Given the description of an element on the screen output the (x, y) to click on. 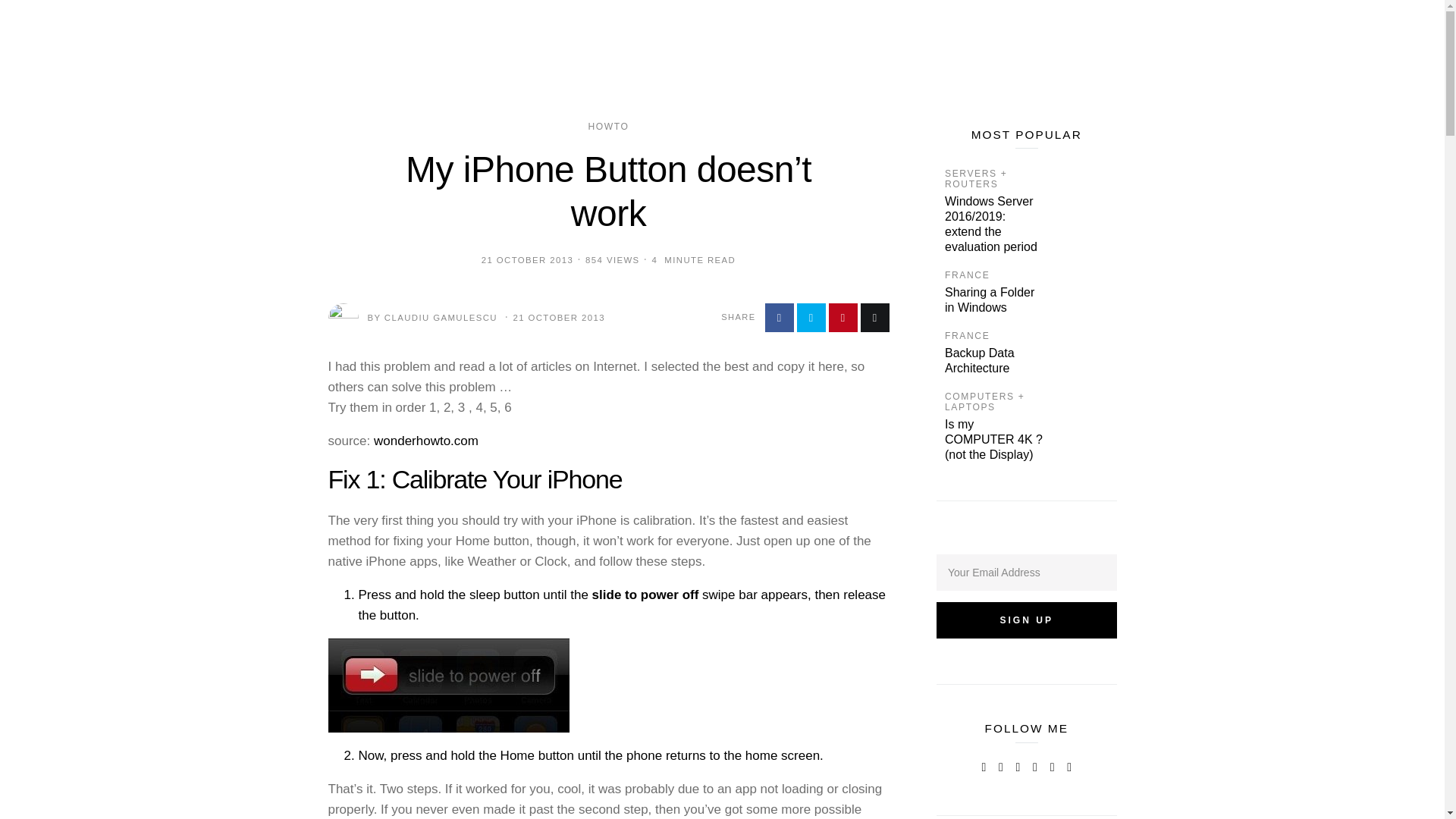
Share by Email (874, 317)
Share on Twitter (810, 317)
Share on Pinterest (842, 317)
Share on Facebook (778, 317)
